Given the description of an element on the screen output the (x, y) to click on. 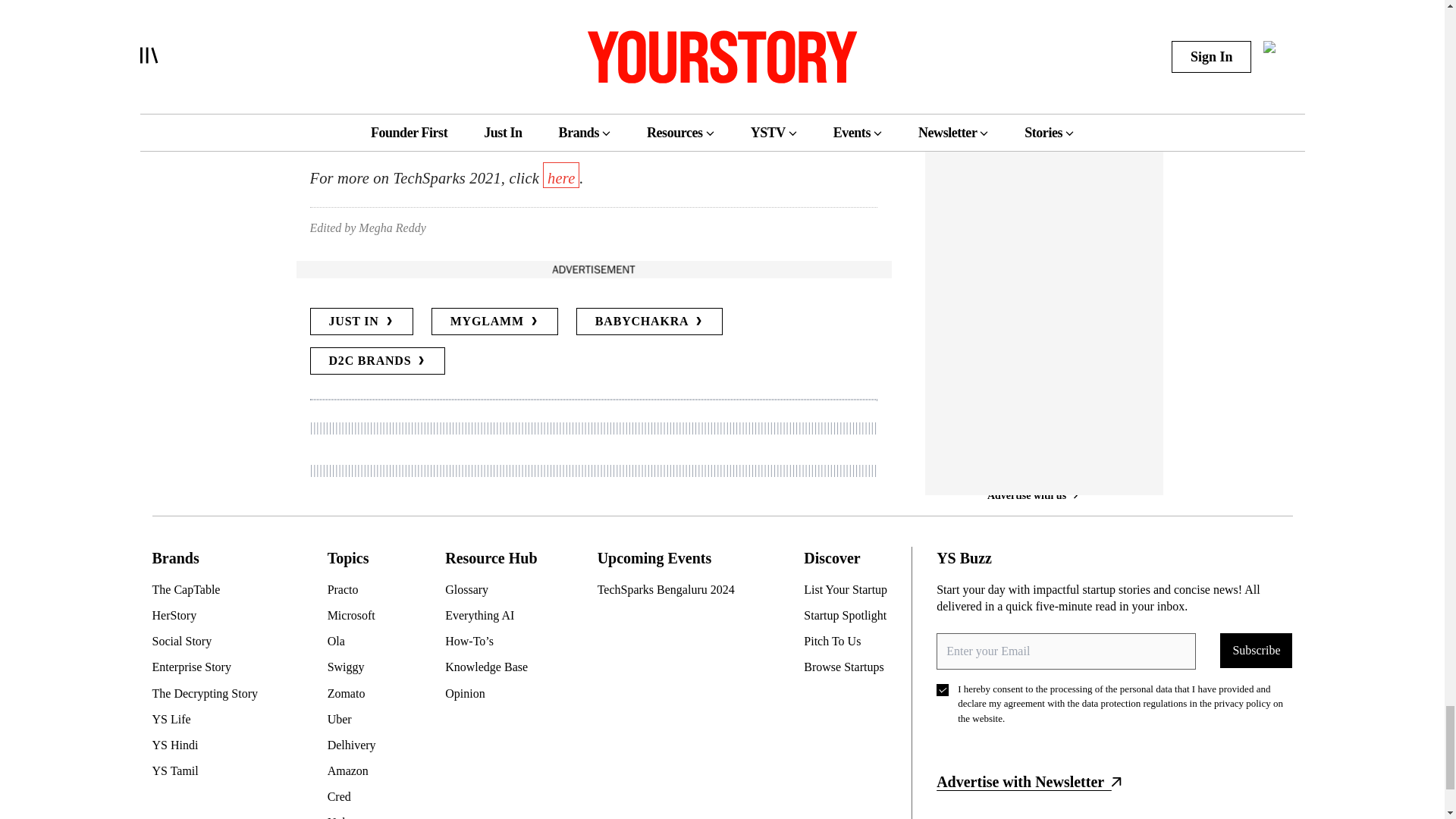
D2C BRANDS (376, 360)
here (561, 175)
here (681, 86)
JUST IN (360, 320)
MYGLAMM (493, 320)
Advertise with us (592, 269)
BABYCHAKRA (649, 320)
